Given the description of an element on the screen output the (x, y) to click on. 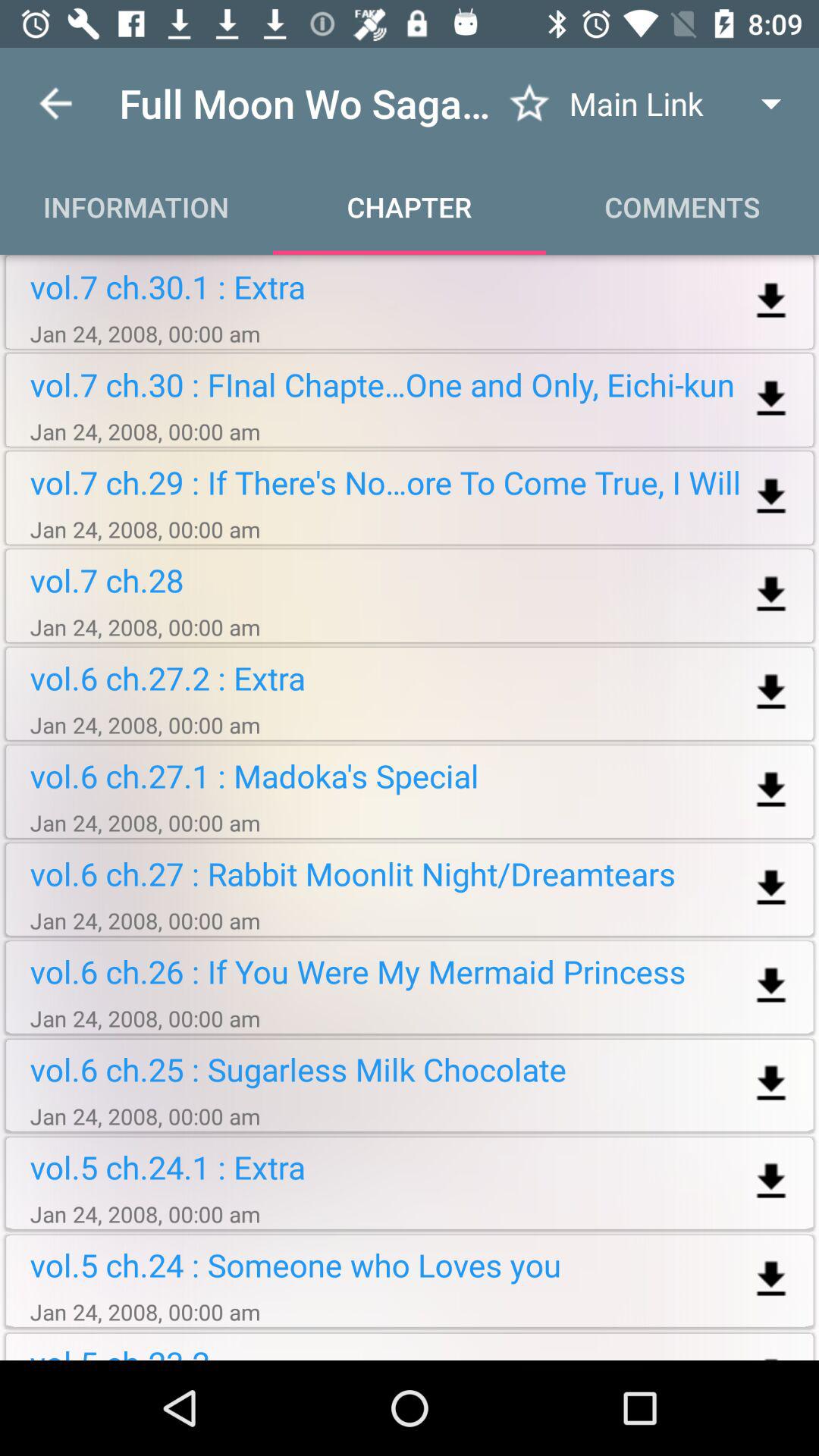
download (771, 692)
